Given the description of an element on the screen output the (x, y) to click on. 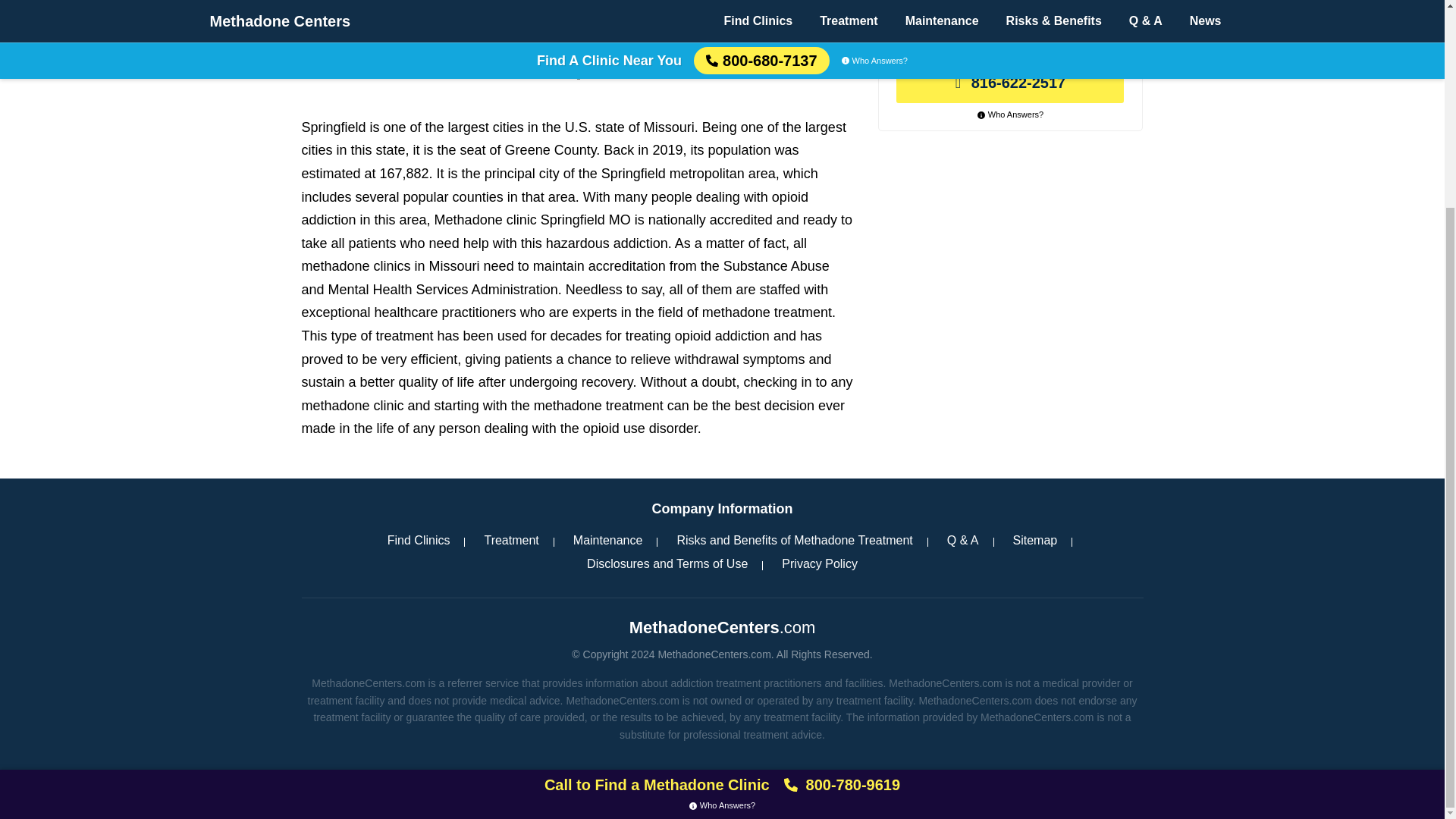
Treatment (511, 539)
BHG Springfield Treatment Center (419, 26)
Disclosures and Terms of Use (667, 563)
Find Clinics (419, 539)
BHG Springfield Treatment Center (419, 26)
816-622-2517 (1010, 83)
MethadoneCenters.com (721, 627)
Risks and Benefits of Methadone Treatment (794, 539)
